Given the description of an element on the screen output the (x, y) to click on. 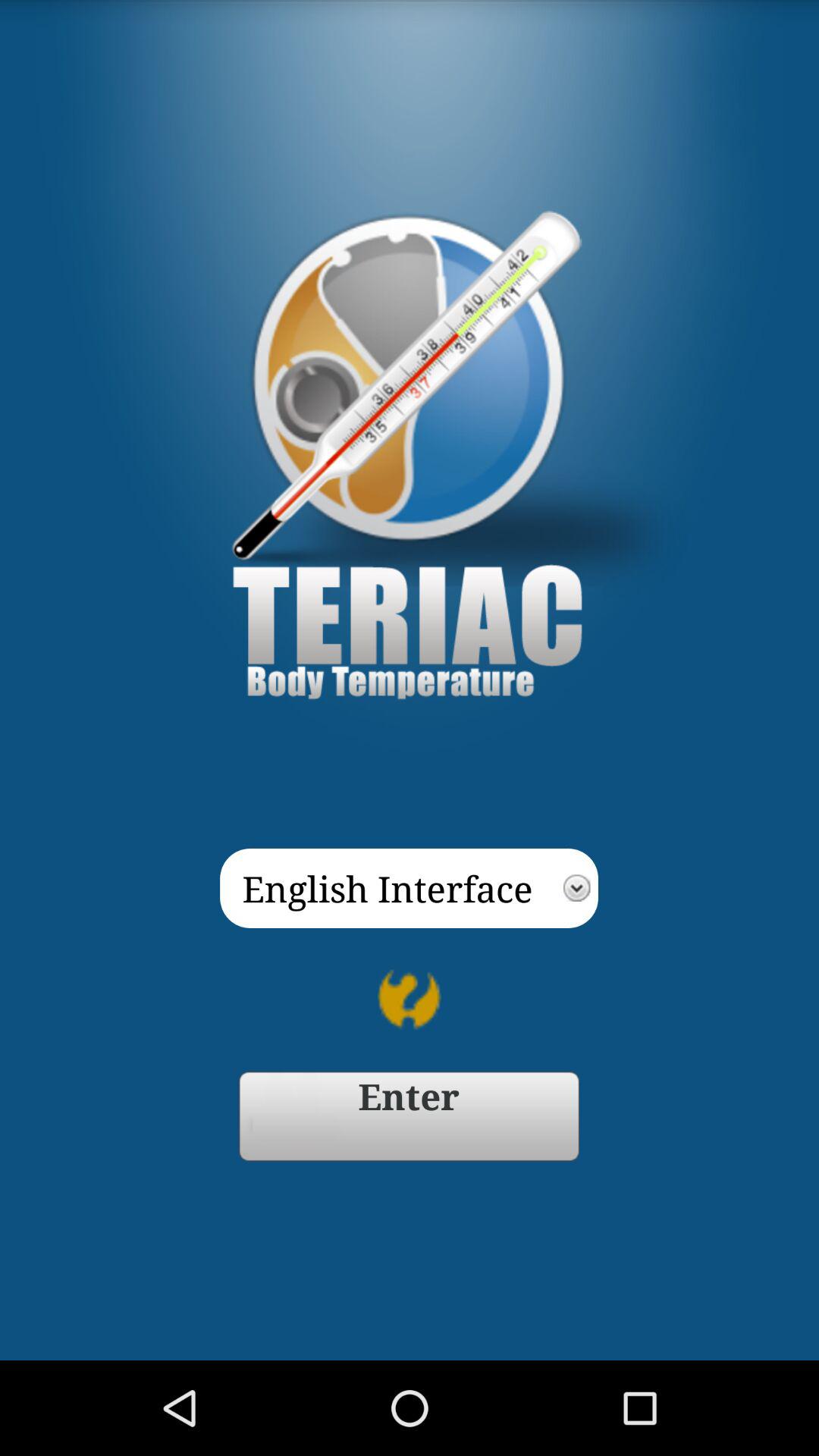
go forward enter (408, 1116)
